Given the description of an element on the screen output the (x, y) to click on. 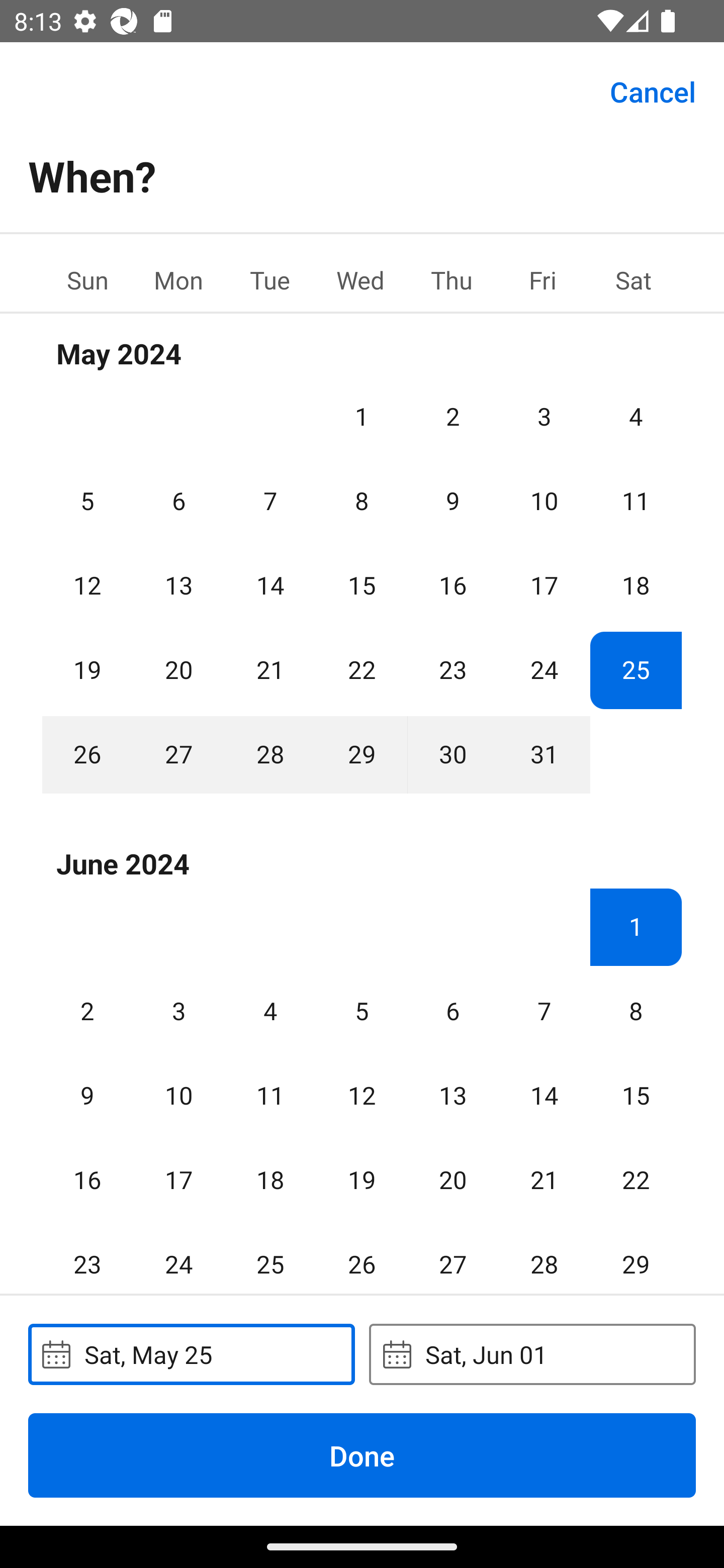
Cancel (652, 90)
Sat, May 25 (191, 1353)
Sat, Jun 01 (532, 1353)
Done (361, 1454)
